Given the description of an element on the screen output the (x, y) to click on. 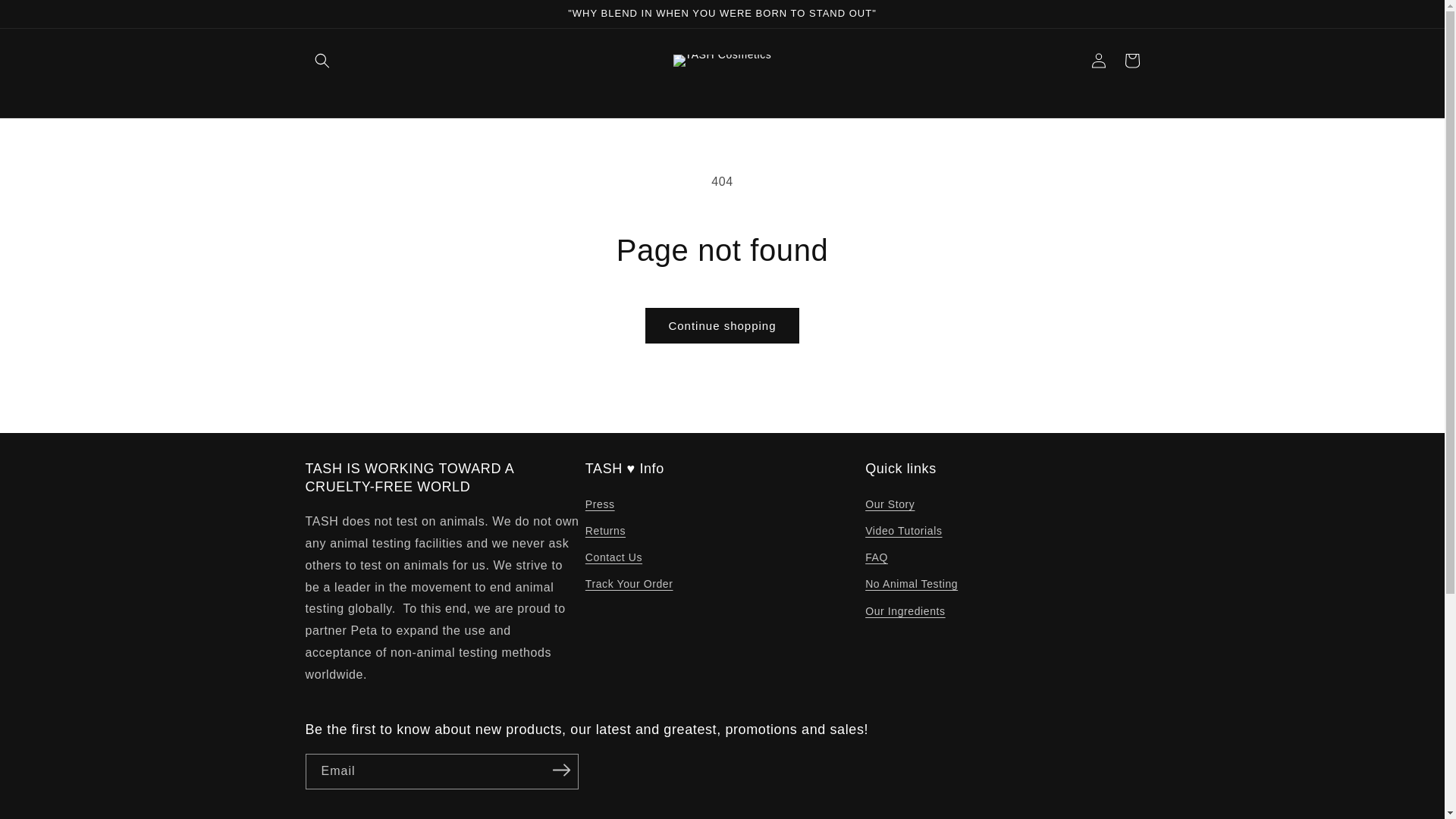
Skip to content (45, 17)
Cart (1131, 60)
Contact Us (613, 557)
Returns (605, 530)
Track Your Order (628, 583)
Continue shopping (721, 325)
Our Story (889, 506)
Press (599, 506)
Log in (1098, 60)
